Given the description of an element on the screen output the (x, y) to click on. 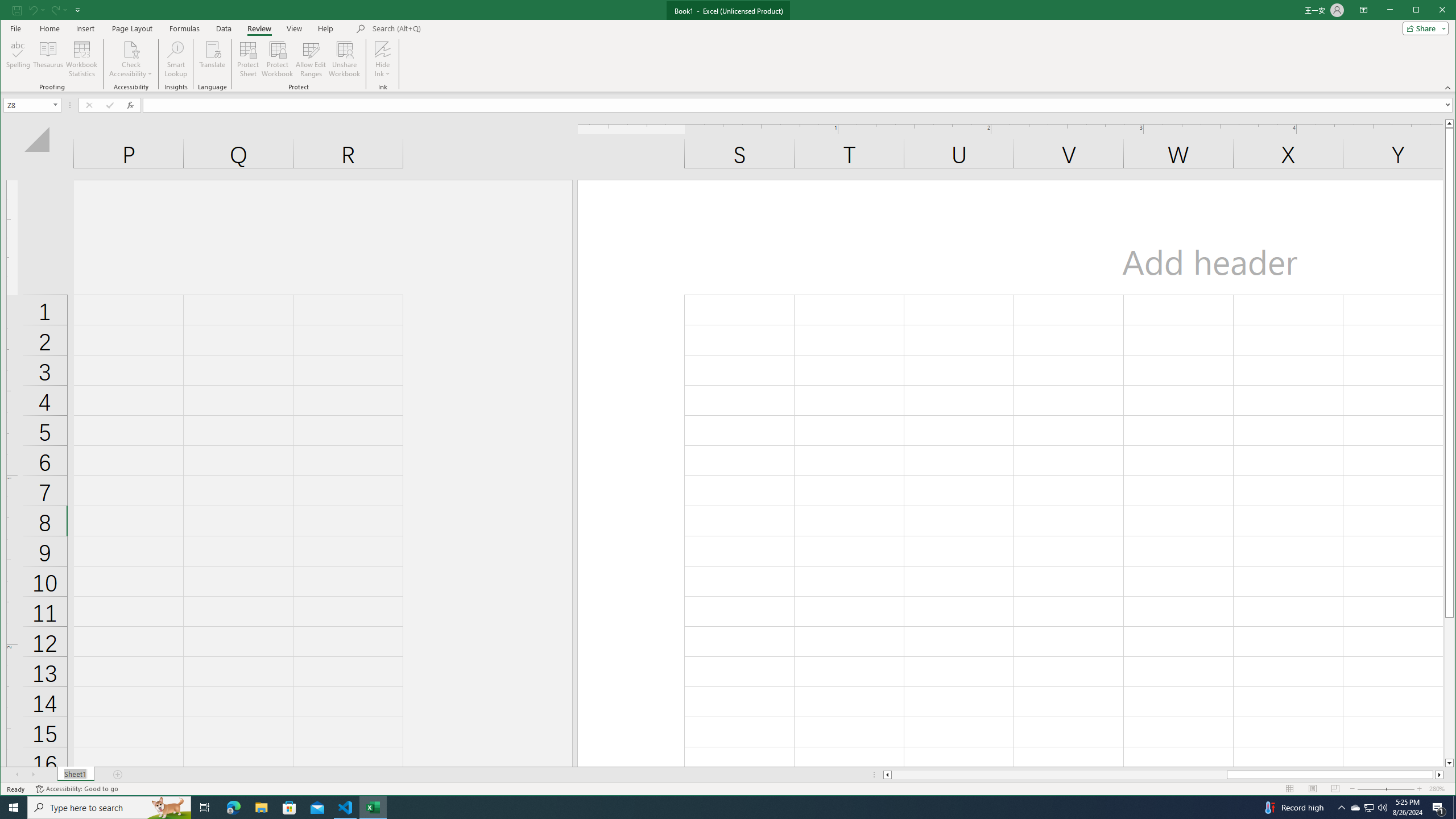
Task View (204, 807)
Show desktop (1454, 807)
